Given the description of an element on the screen output the (x, y) to click on. 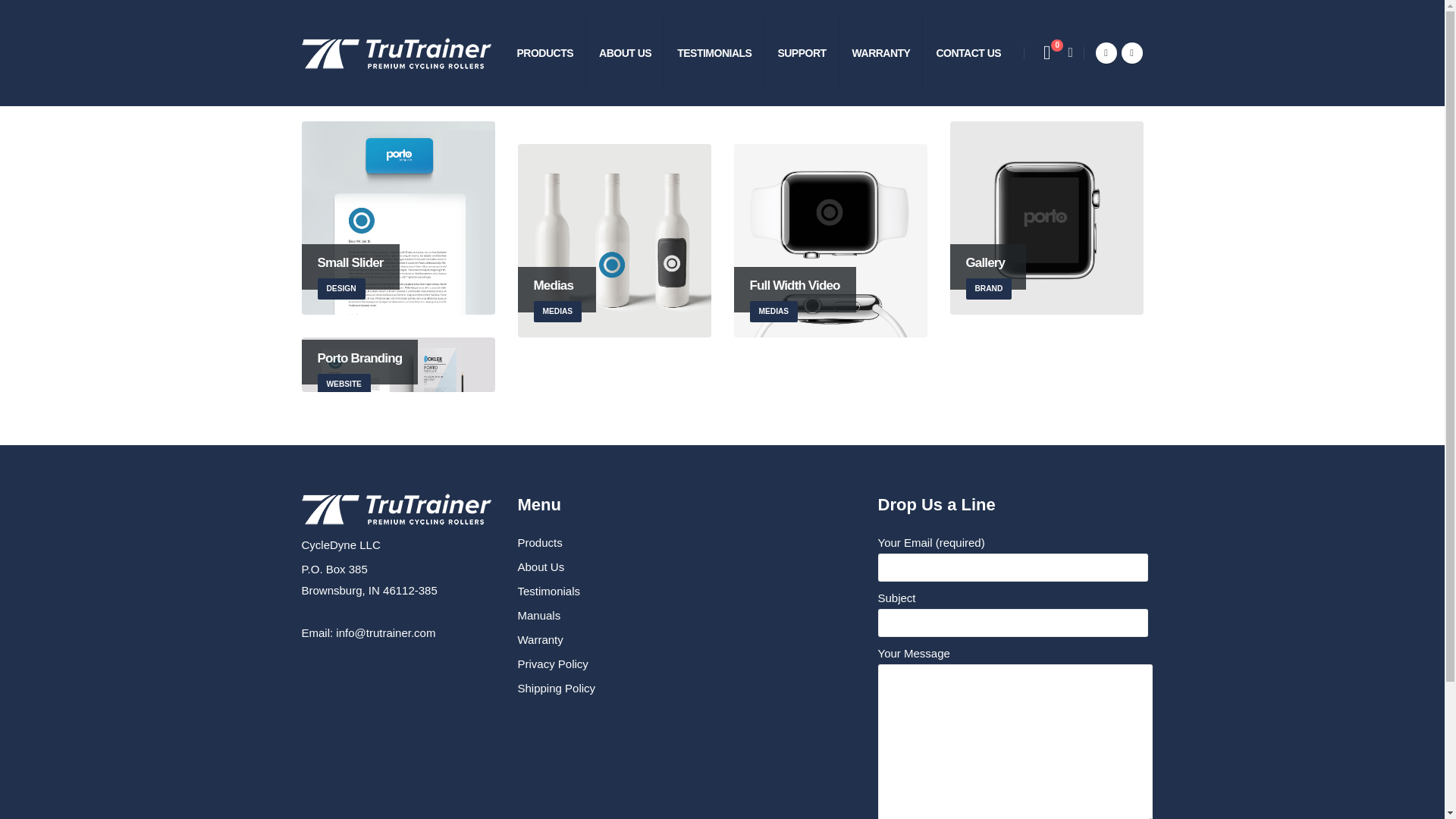
Instagram (1131, 52)
ABOUT US (624, 52)
CONTACT US (968, 52)
SUPPORT (398, 217)
TruTrainer - Premium Cycling Roller (801, 52)
PRODUCTS (396, 52)
TESTIMONIALS (544, 52)
Facebook (1045, 217)
WARRANTY (714, 52)
